Given the description of an element on the screen output the (x, y) to click on. 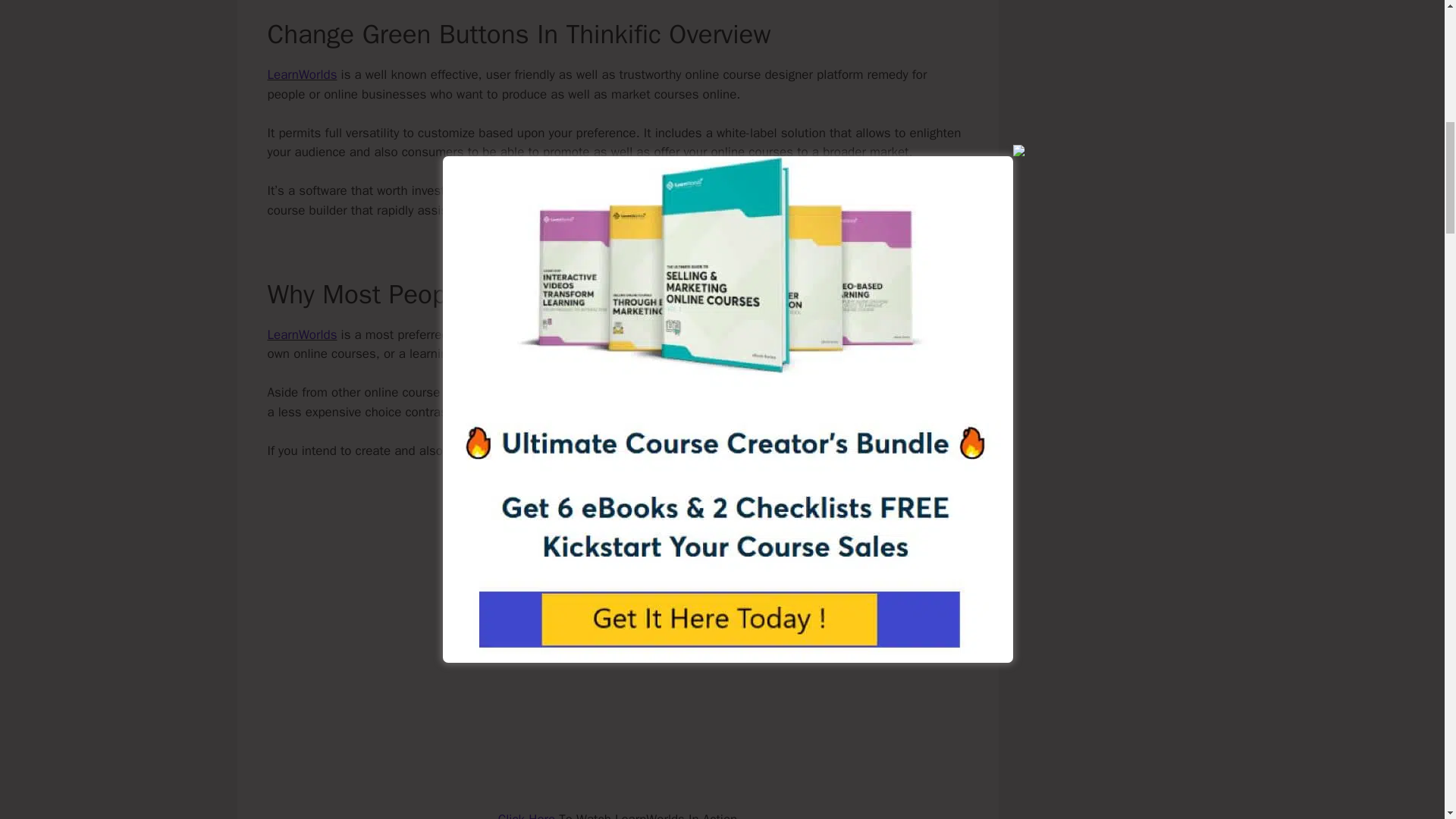
Scroll back to top (1406, 720)
LearnWorlds (301, 74)
Click Here (525, 815)
LearnWorlds (301, 333)
